Given the description of an element on the screen output the (x, y) to click on. 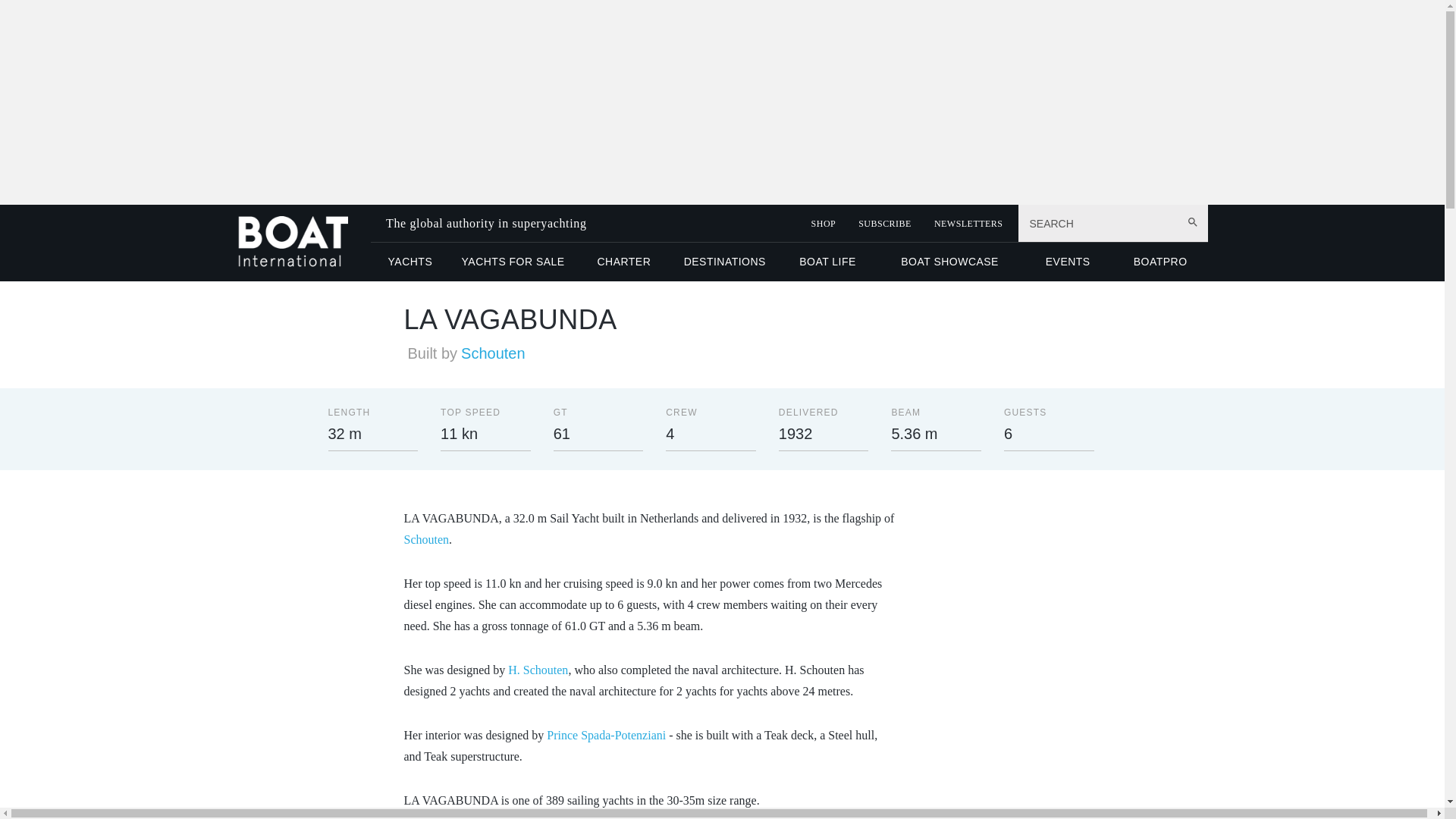
DESTINATIONS (724, 261)
YACHTS FOR SALE (512, 261)
YACHTS (410, 261)
SUBSCRIBE (885, 223)
NEWSLETTERS (968, 223)
SHOP (822, 223)
CHARTER (623, 261)
